Given the description of an element on the screen output the (x, y) to click on. 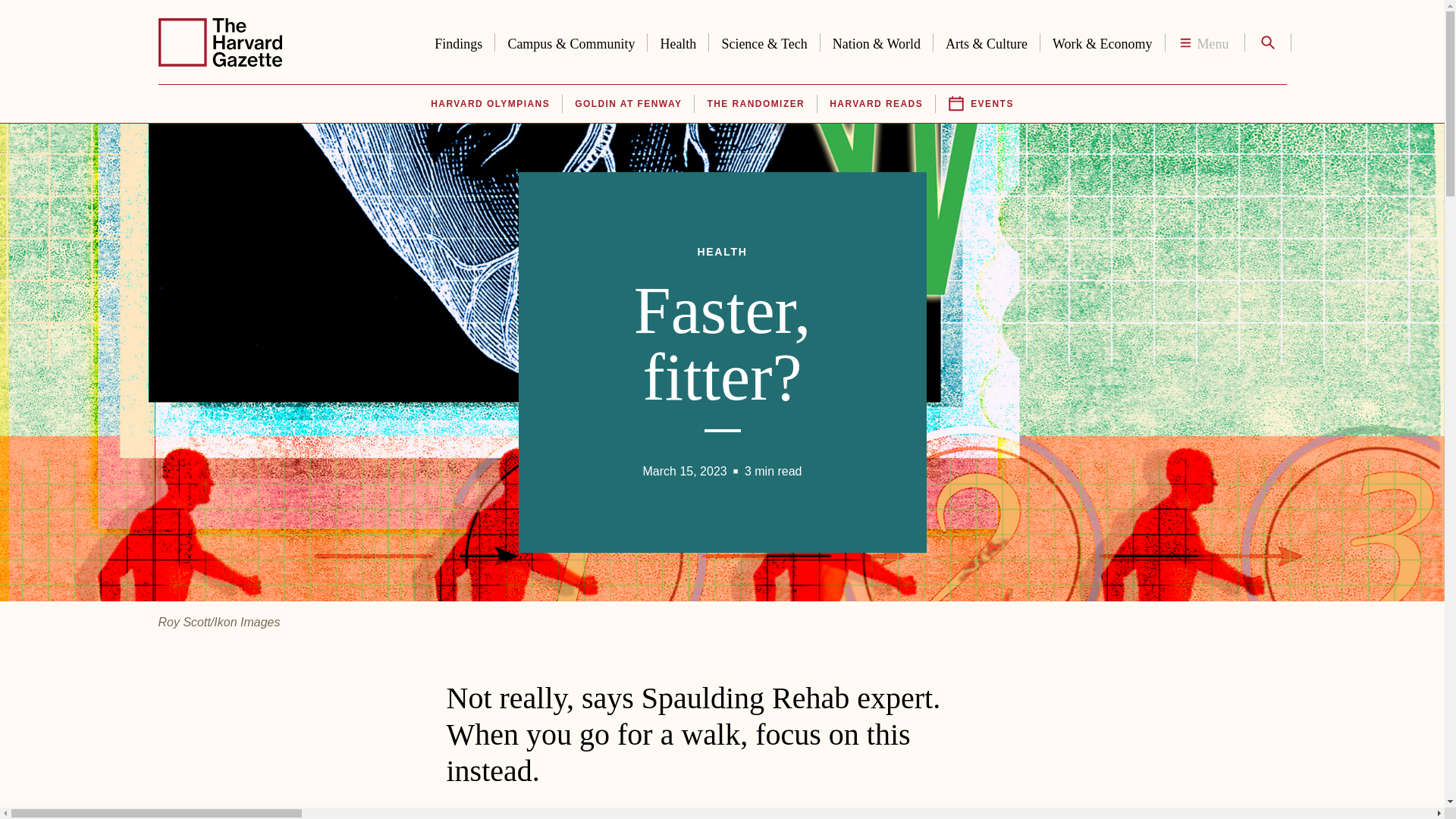
GOLDIN AT FENWAY (627, 103)
HARVARD OLYMPIANS (490, 103)
Health (677, 41)
Menu (1204, 42)
Findings (457, 41)
